Given the description of an element on the screen output the (x, y) to click on. 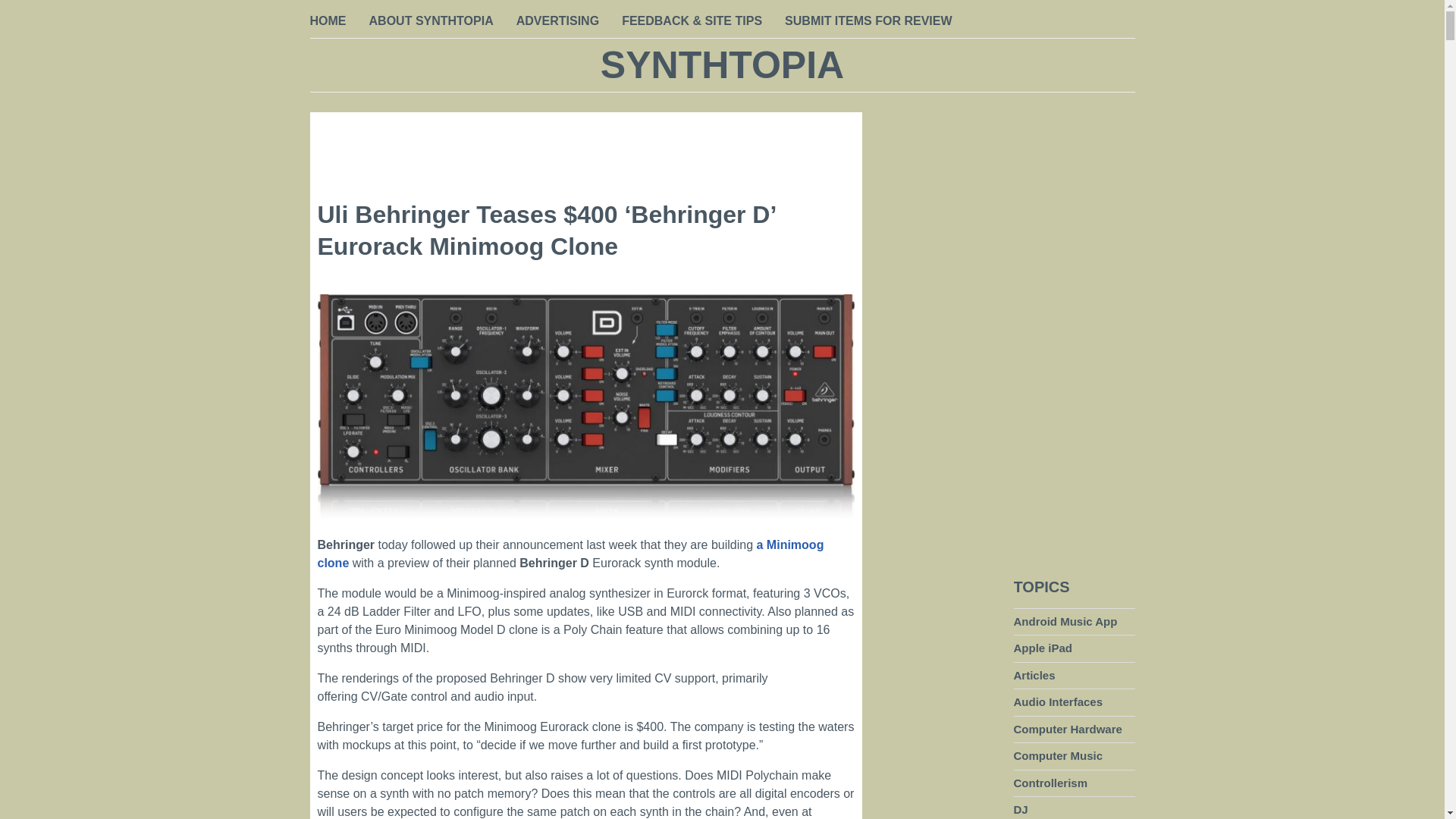
ADVERTISING (557, 21)
HOME (327, 21)
SUBMIT ITEMS FOR REVIEW (868, 21)
a Minimoog clone (570, 554)
SYNTHTOPIA (721, 65)
ABOUT SYNTHTOPIA (431, 21)
